Given the description of an element on the screen output the (x, y) to click on. 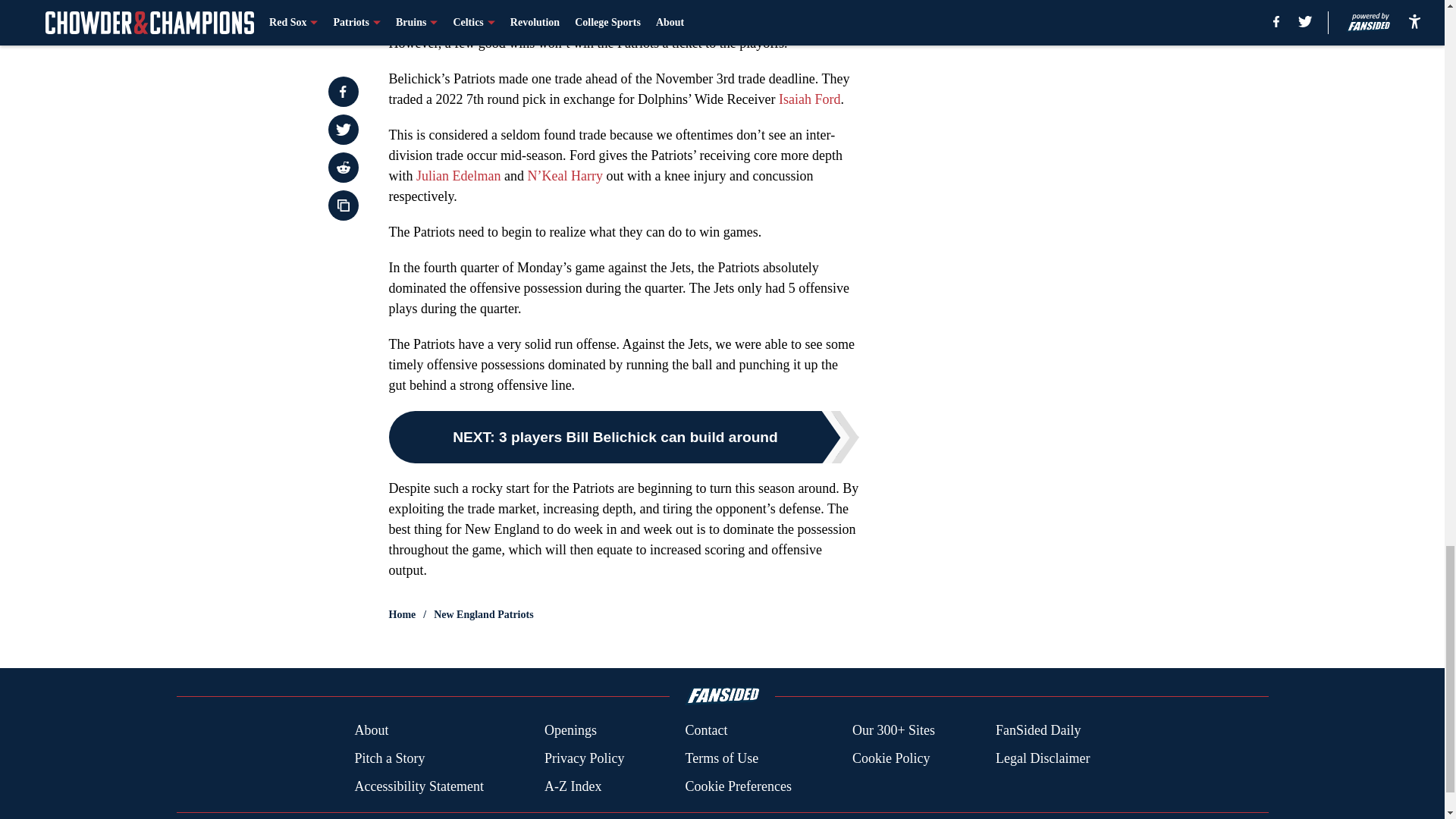
NEXT: 3 players Bill Belichick can build around (623, 437)
Julian Edelman (458, 175)
Isaiah Ford (809, 99)
